Given the description of an element on the screen output the (x, y) to click on. 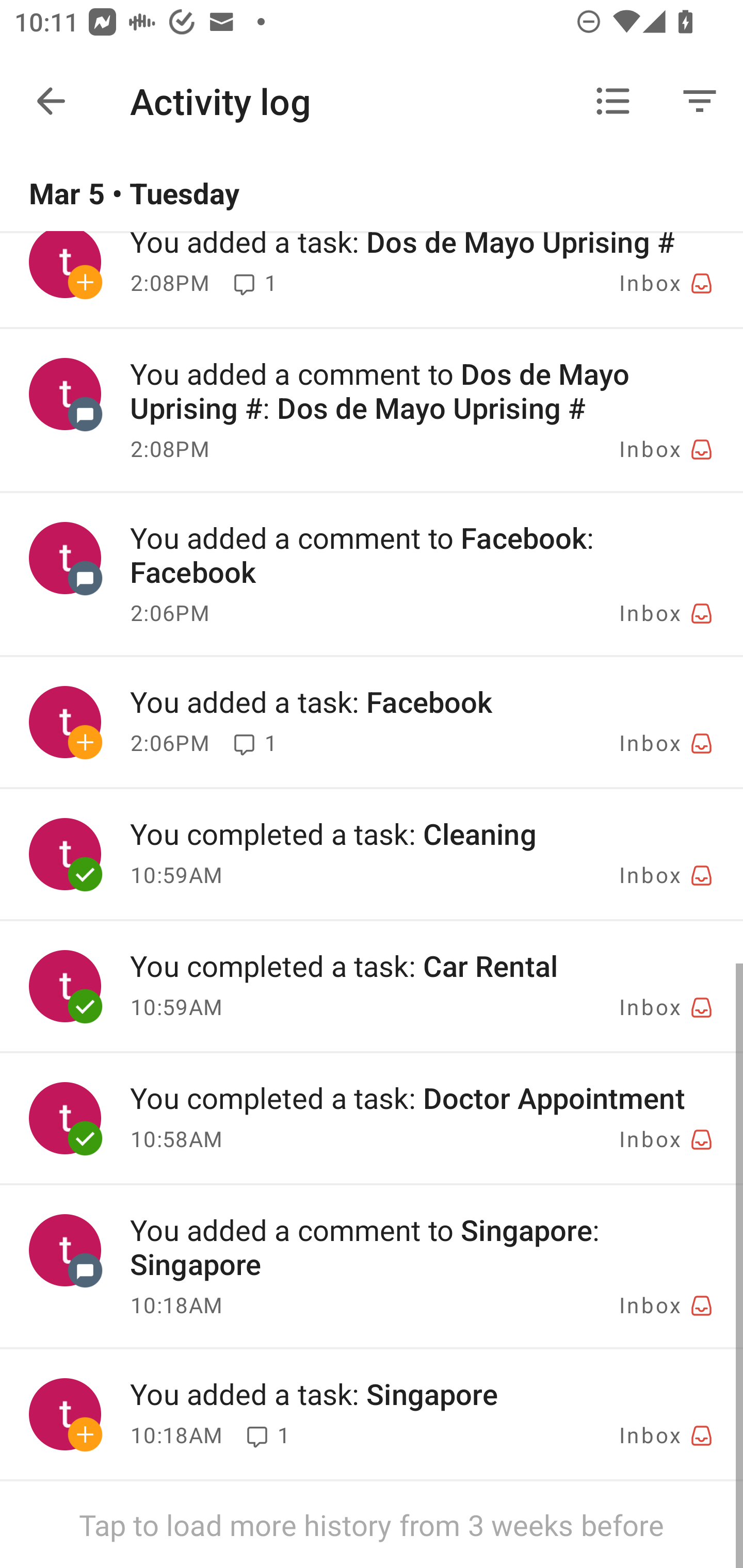
Navigate up (50, 101)
By project (612, 101)
Filter (699, 101)
Mar 5 • Tuesday (371, 194)
You added a task: Facebook 2:06PM 1 Comments Inbox (371, 721)
You completed a task: Cleaning 10:59AM Inbox (371, 853)
You completed a task: Car Rental 10:59AM Inbox (371, 985)
Tap to load more history from 3 weeks before (371, 1524)
